Given the description of an element on the screen output the (x, y) to click on. 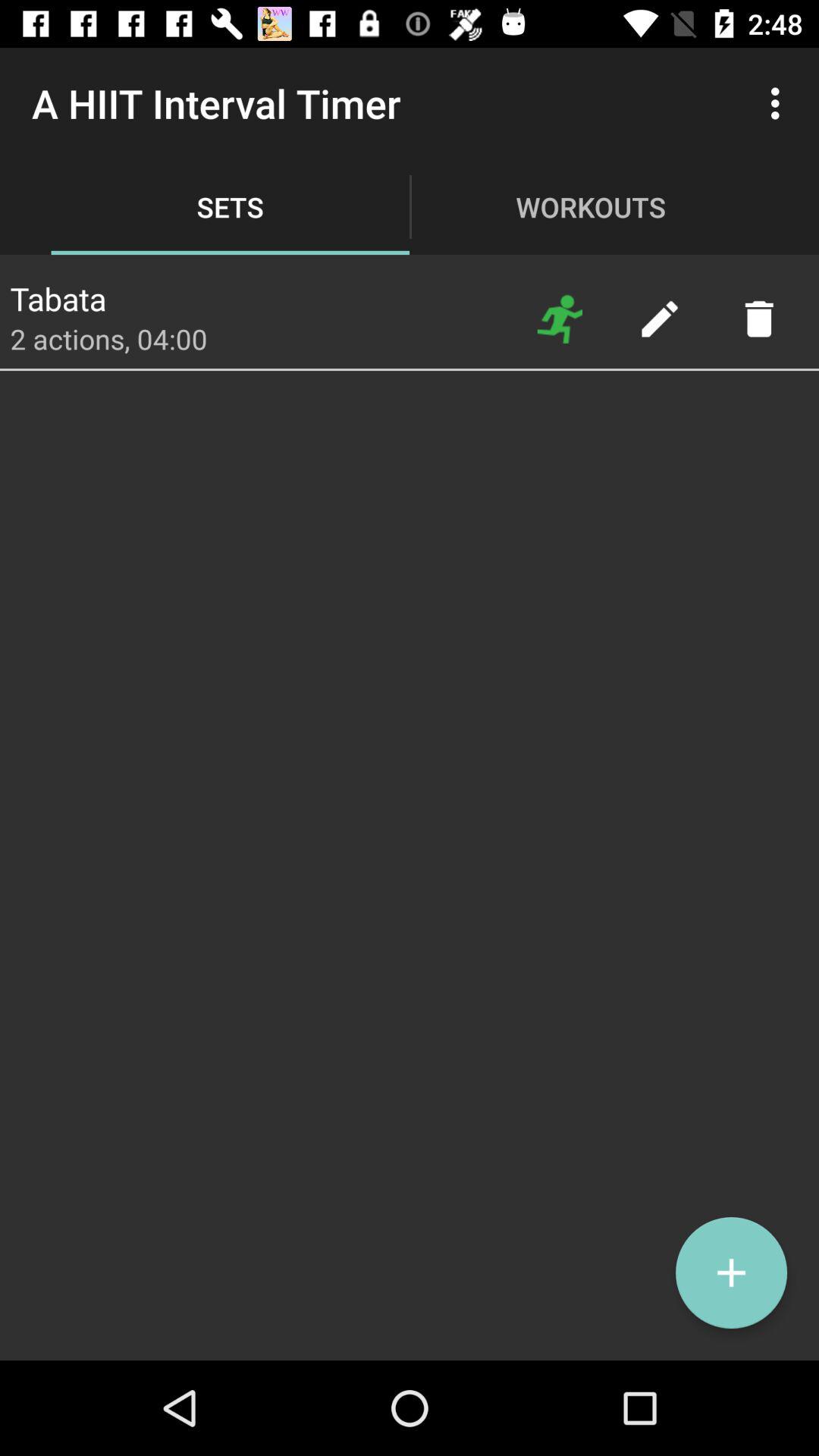
edit (659, 318)
